Given the description of an element on the screen output the (x, y) to click on. 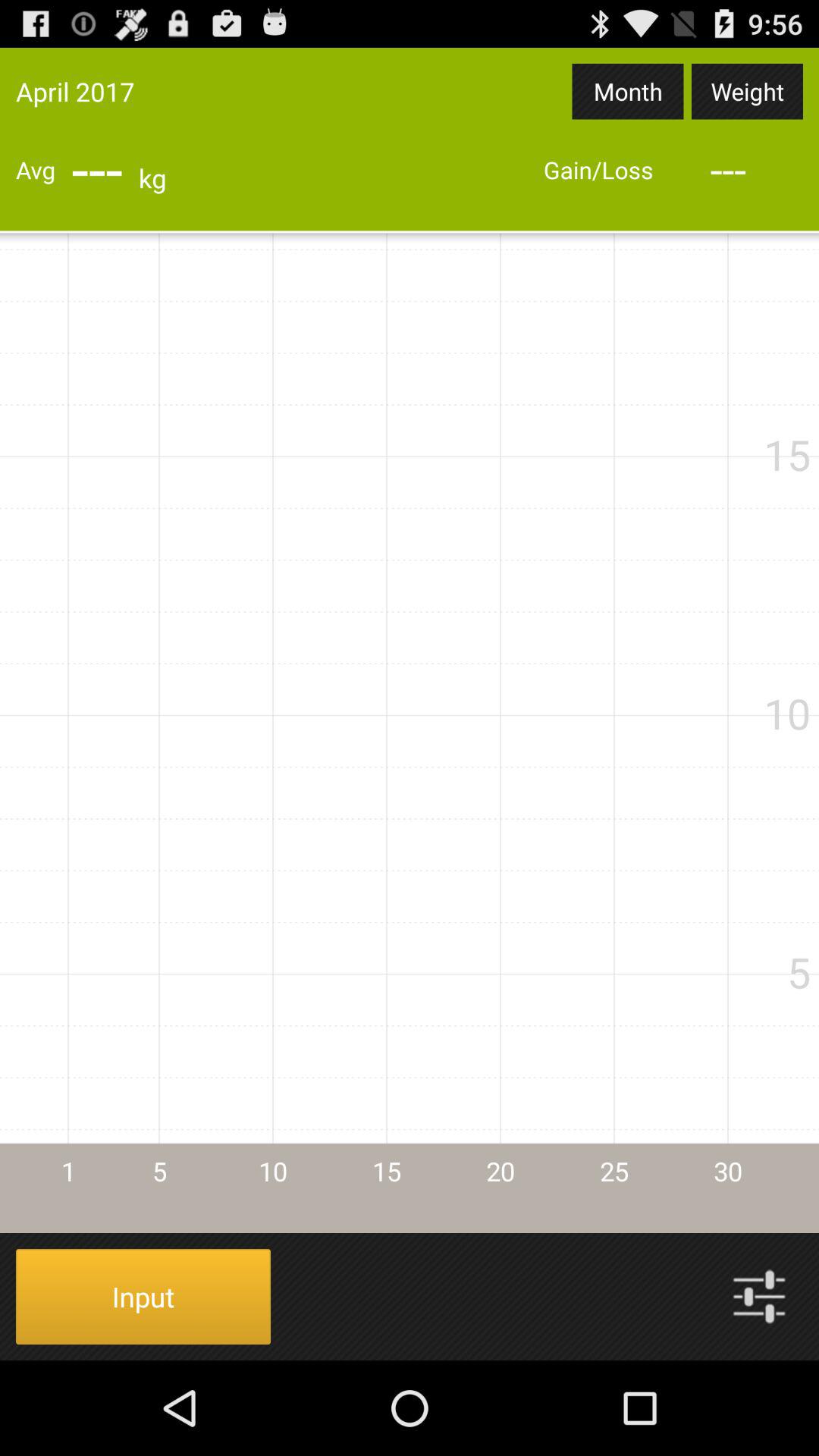
tap icon at the center (409, 733)
